Given the description of an element on the screen output the (x, y) to click on. 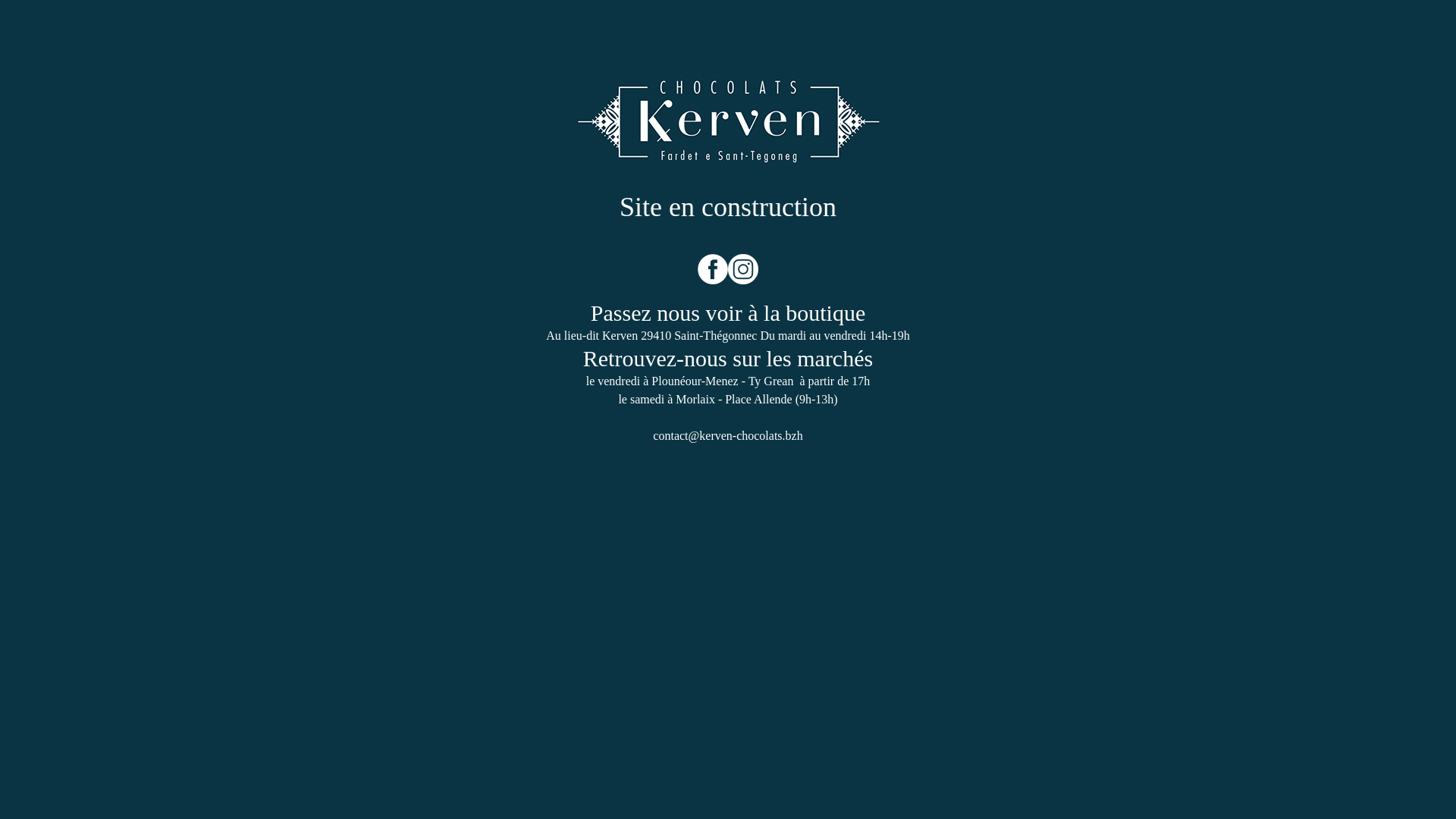
contact@kerven-chocolats.bzh Element type: text (727, 435)
